Given the description of an element on the screen output the (x, y) to click on. 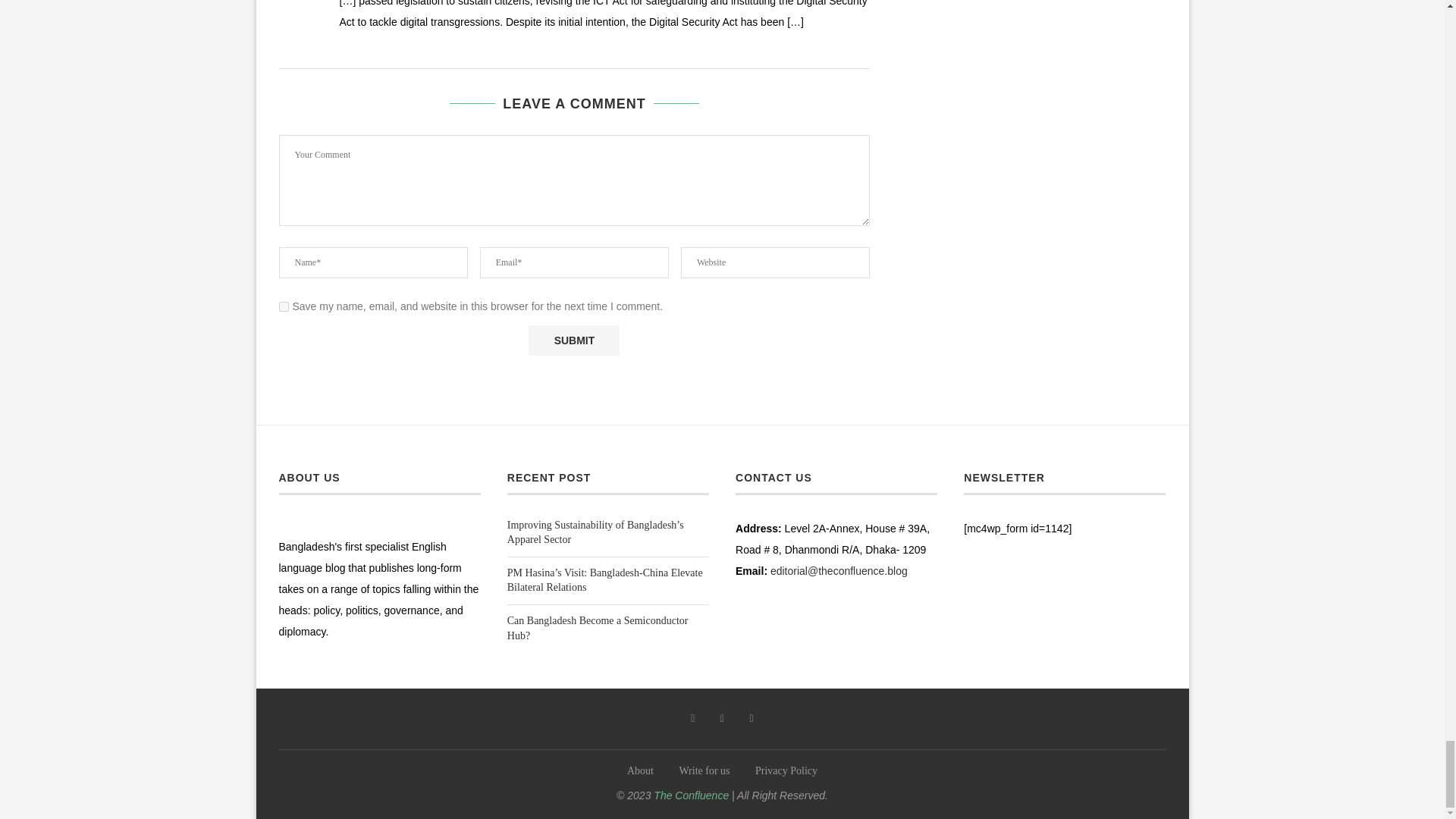
Submit (574, 340)
yes (283, 307)
